Given the description of an element on the screen output the (x, y) to click on. 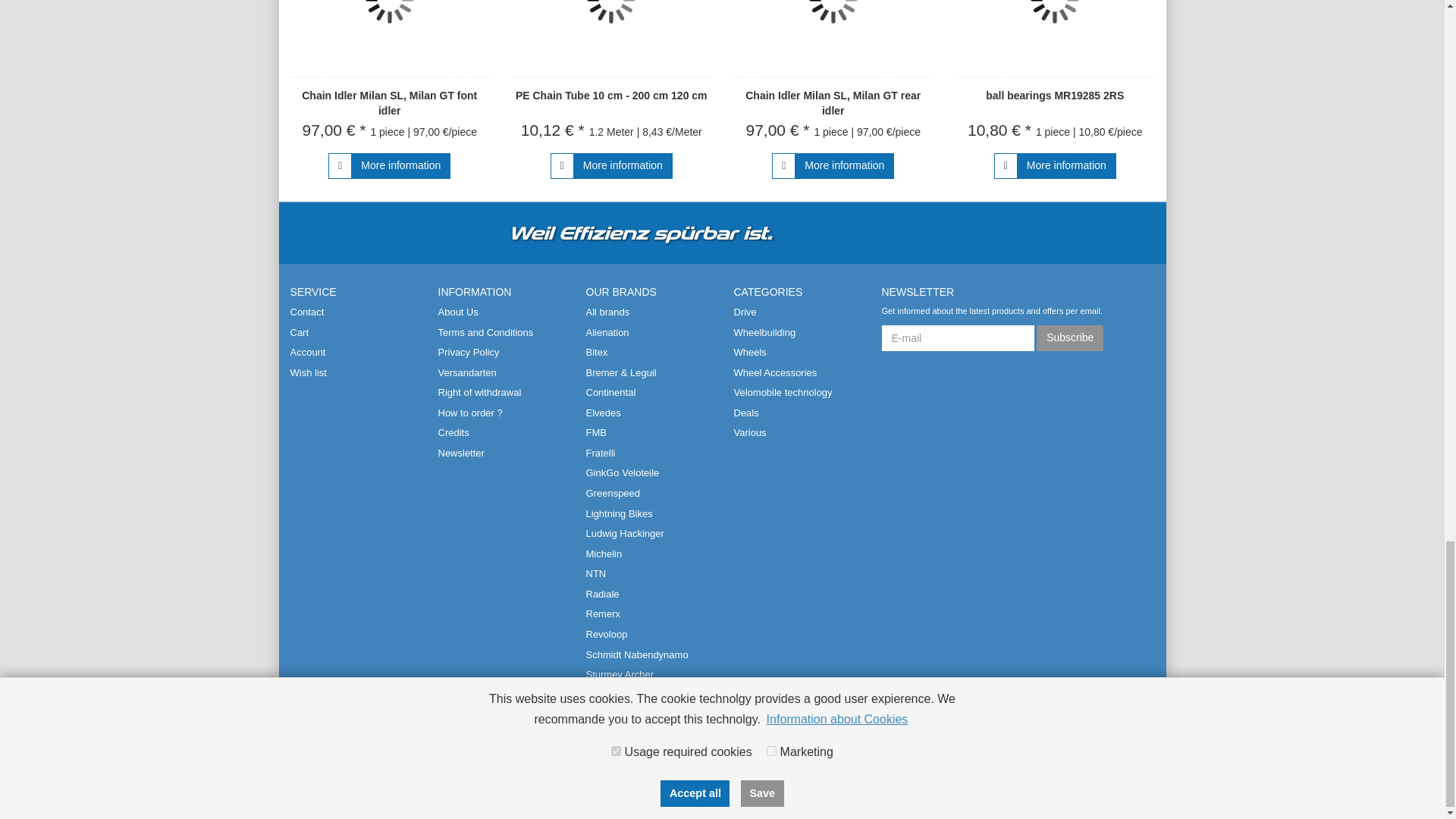
Chain Idler Milan SL, Milan GT rear idler (833, 38)
PE Chain Tube 10 cm - 200 cm 120 cm (611, 95)
Chain Idler Milan SL, Milan GT rear idler (832, 103)
Chain Idler Milan SL, Milan GT font idler (389, 103)
Chain Idler Milan SL, Milan GT font idler (389, 38)
PE Chain Tube 10 cm - 200 cm 120 cm (611, 38)
